Given the description of an element on the screen output the (x, y) to click on. 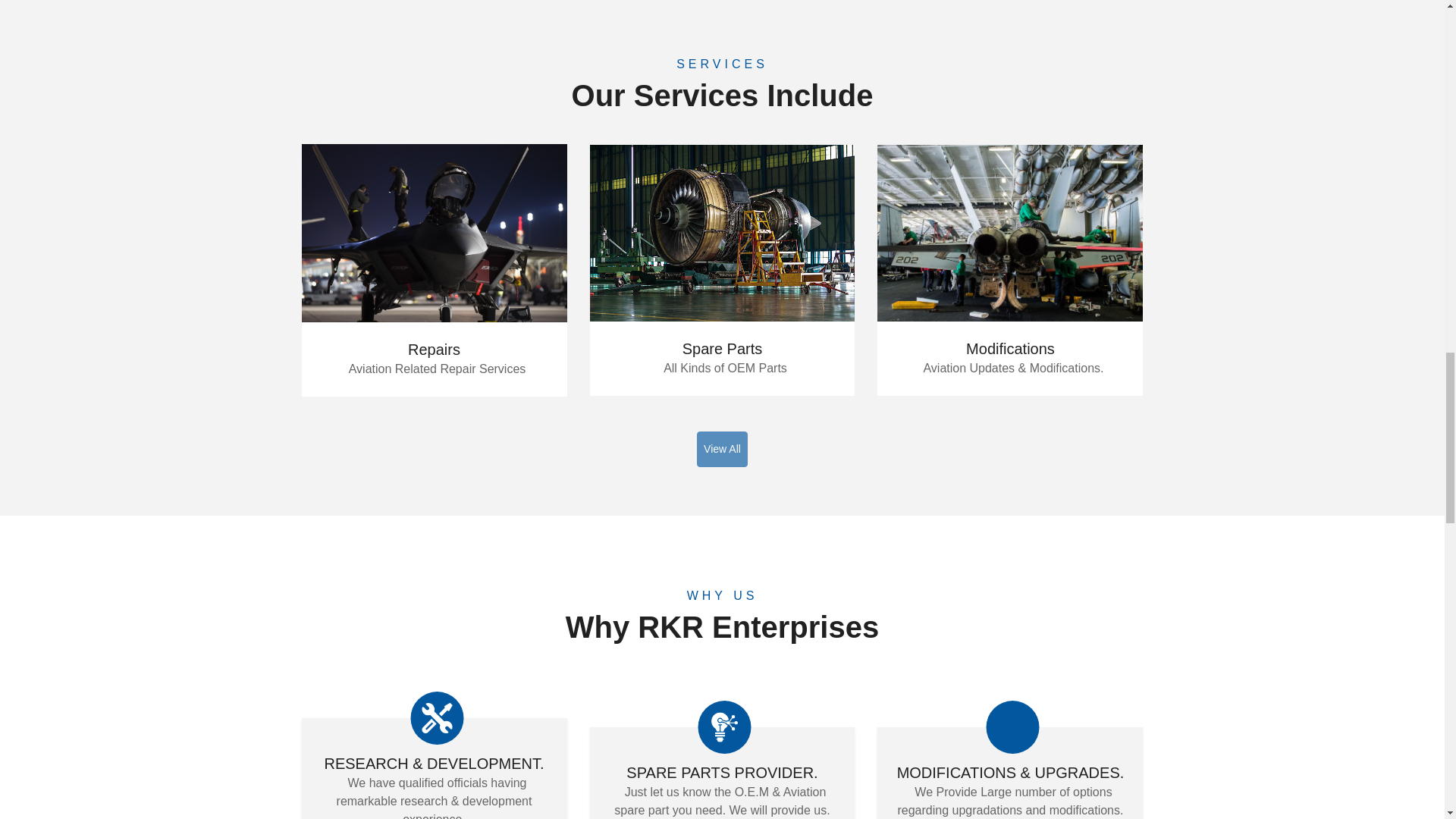
SPARE PARTS PROVIDER. (721, 772)
Modifications (1010, 348)
View All (722, 448)
Repairs (433, 349)
Spare Parts (722, 348)
